Given the description of an element on the screen output the (x, y) to click on. 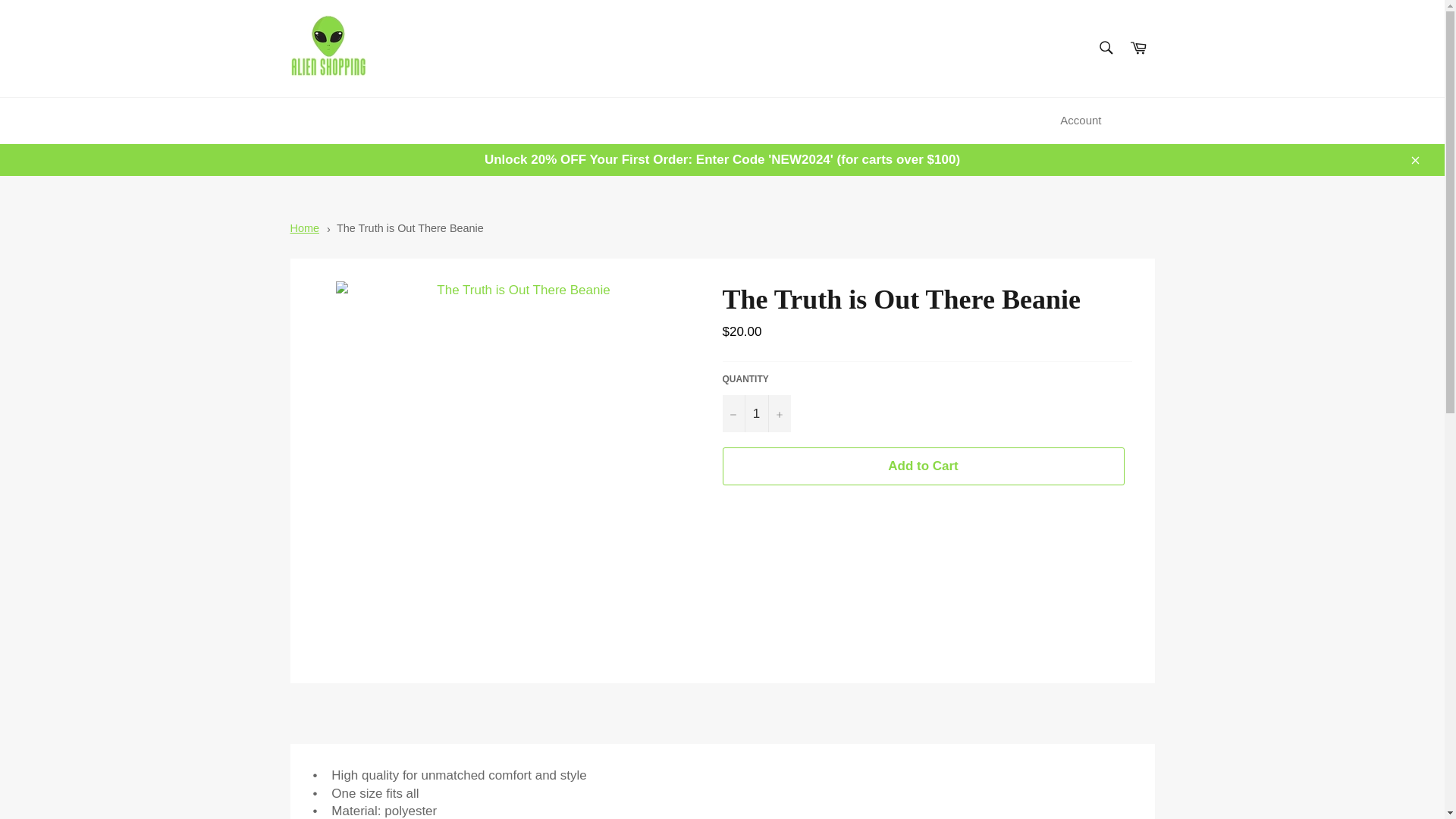
Cart (1138, 48)
Home (303, 227)
Account (1080, 120)
Close (1414, 159)
The Truth is Out There Beanie (409, 227)
Home (303, 227)
Add to Cart (923, 465)
Search (1104, 47)
1 (756, 413)
